Given the description of an element on the screen output the (x, y) to click on. 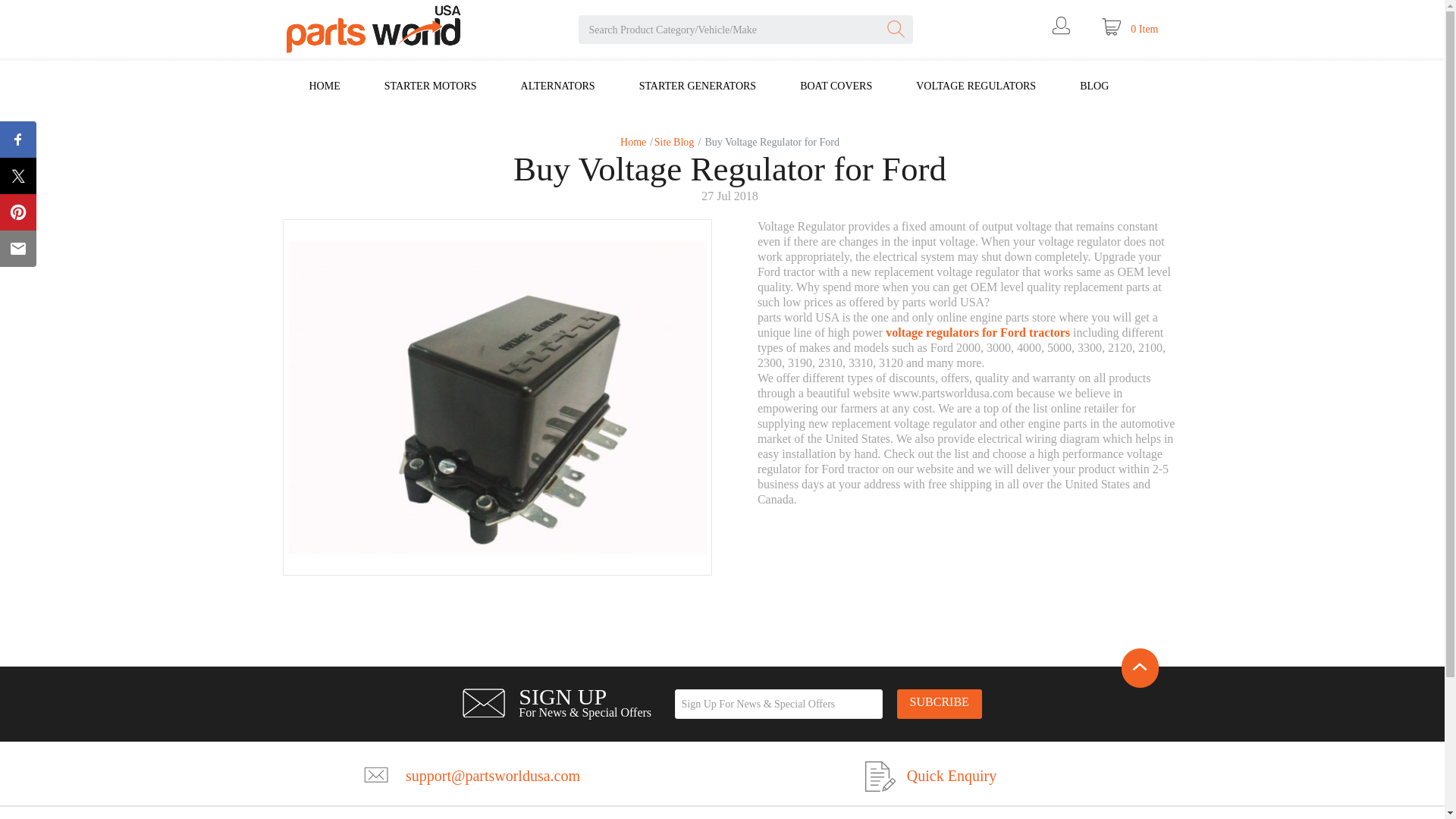
STARTER MOTORS (430, 86)
STARTER GENERATORS (697, 86)
Buy Voltage Regulator for Ford (770, 142)
0 Item (1130, 29)
ALTERNATORS (558, 86)
Quick Enquiry (951, 775)
BLOG (1094, 86)
Home (633, 142)
VOLTAGE REGULATORS (975, 86)
BOAT COVERS (835, 86)
SUBCRIBE (938, 704)
Site Blog (673, 142)
voltage regulators for Ford tractors (977, 332)
Buy Voltage Regulator for Ford (497, 397)
